Given the description of an element on the screen output the (x, y) to click on. 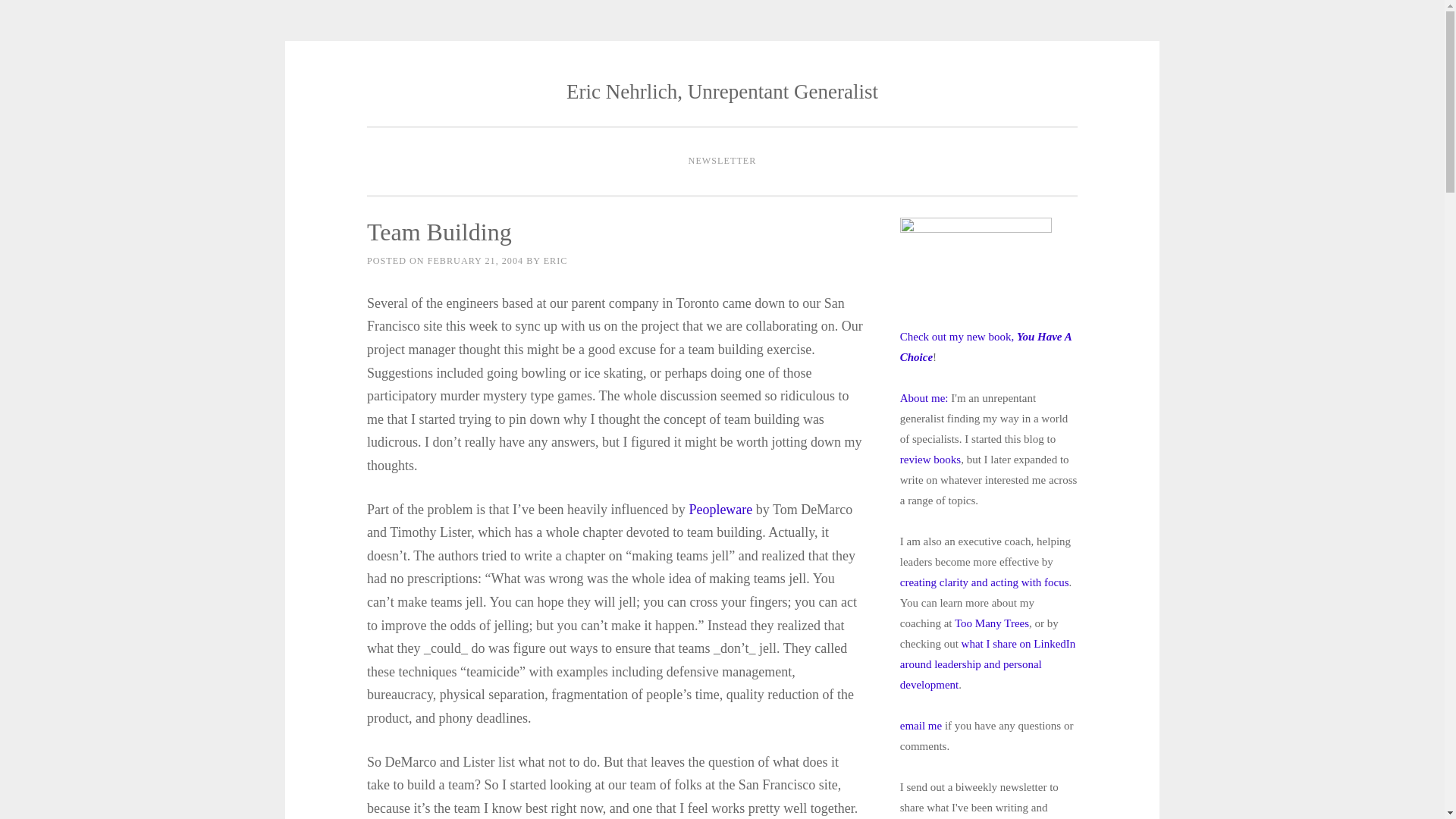
email me (920, 725)
Check out my new book, You Have A Choice (985, 346)
ERIC (555, 260)
About me: (924, 397)
Too Many Trees (992, 623)
Eric Nehrlich, Unrepentant Generalist (721, 91)
FEBRUARY 21, 2004 (475, 260)
review books (929, 459)
Peopleware (720, 509)
Eric Nehrlich, Unrepentant Generalist (721, 91)
Search (39, 16)
creating clarity and acting with focus (983, 582)
NEWSLETTER (721, 161)
